Given the description of an element on the screen output the (x, y) to click on. 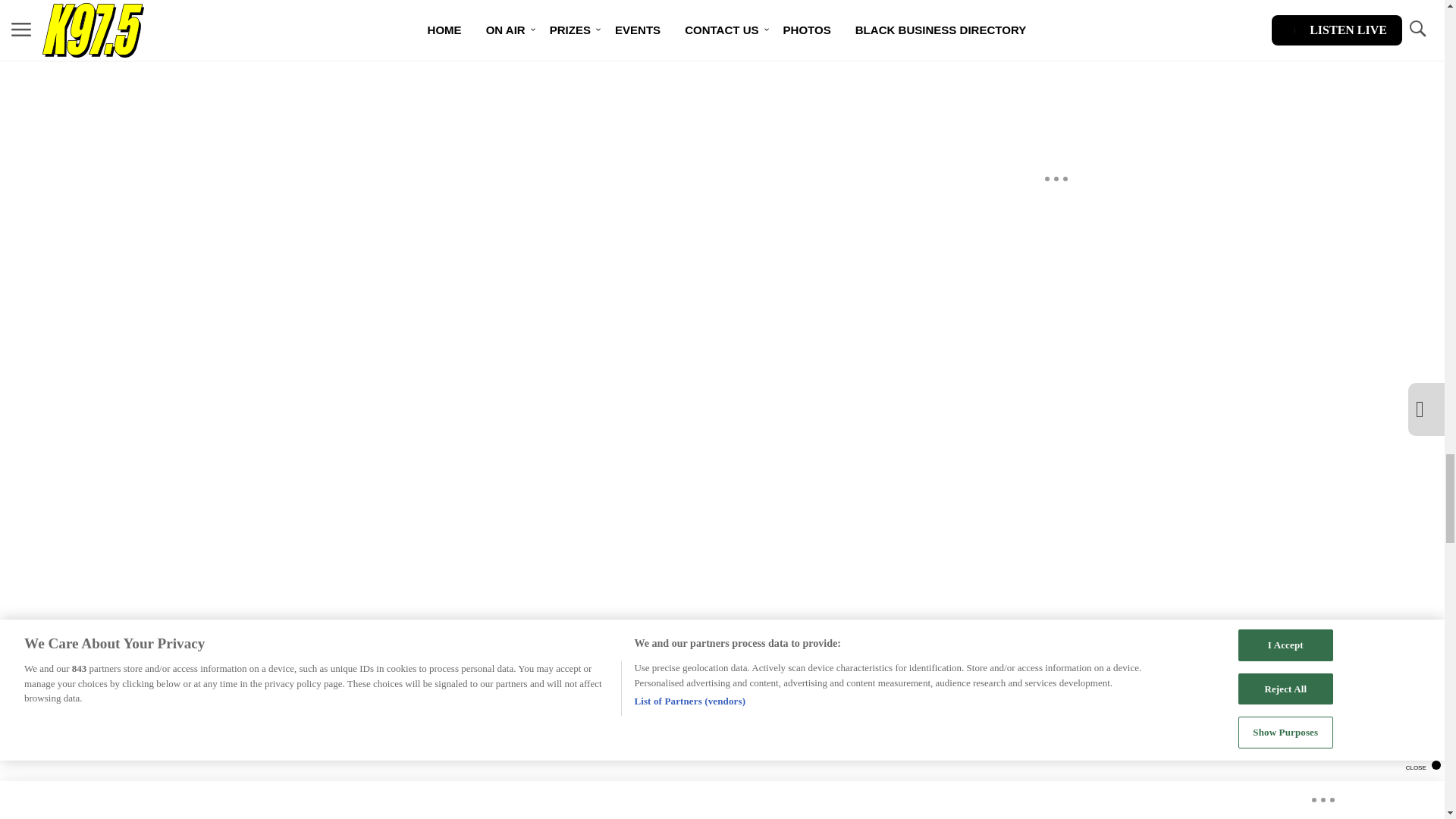
Vuukle Comments Widget (585, 49)
